Given the description of an element on the screen output the (x, y) to click on. 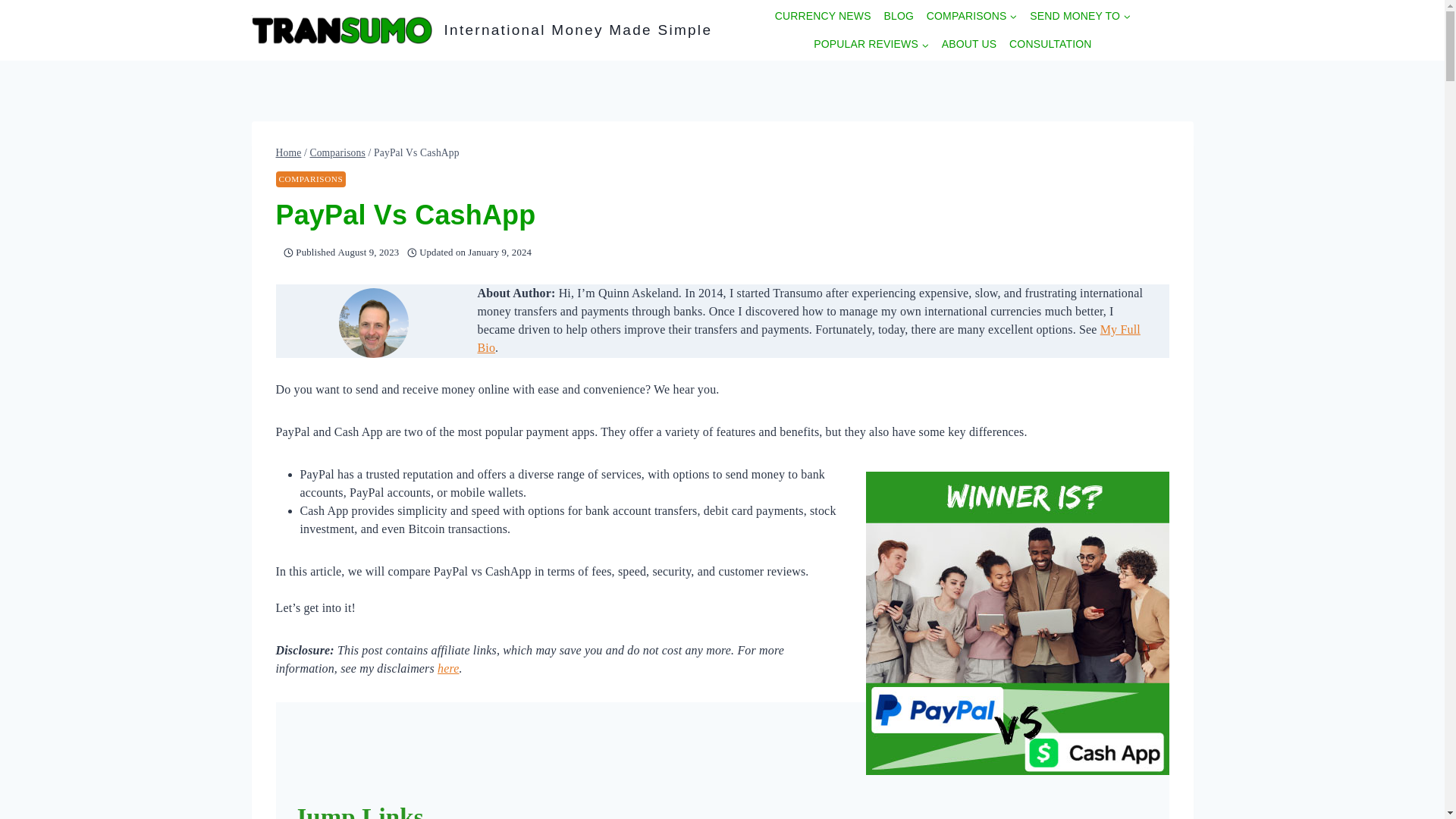
BLOG (898, 15)
International Money Made Simple (482, 30)
Home (288, 152)
SEND MONEY TO (1080, 15)
ABOUT US (968, 44)
COMPARISONS (971, 15)
COMPARISONS (311, 179)
here (448, 667)
POPULAR REVIEWS (872, 44)
CURRENCY NEWS (822, 15)
